Given the description of an element on the screen output the (x, y) to click on. 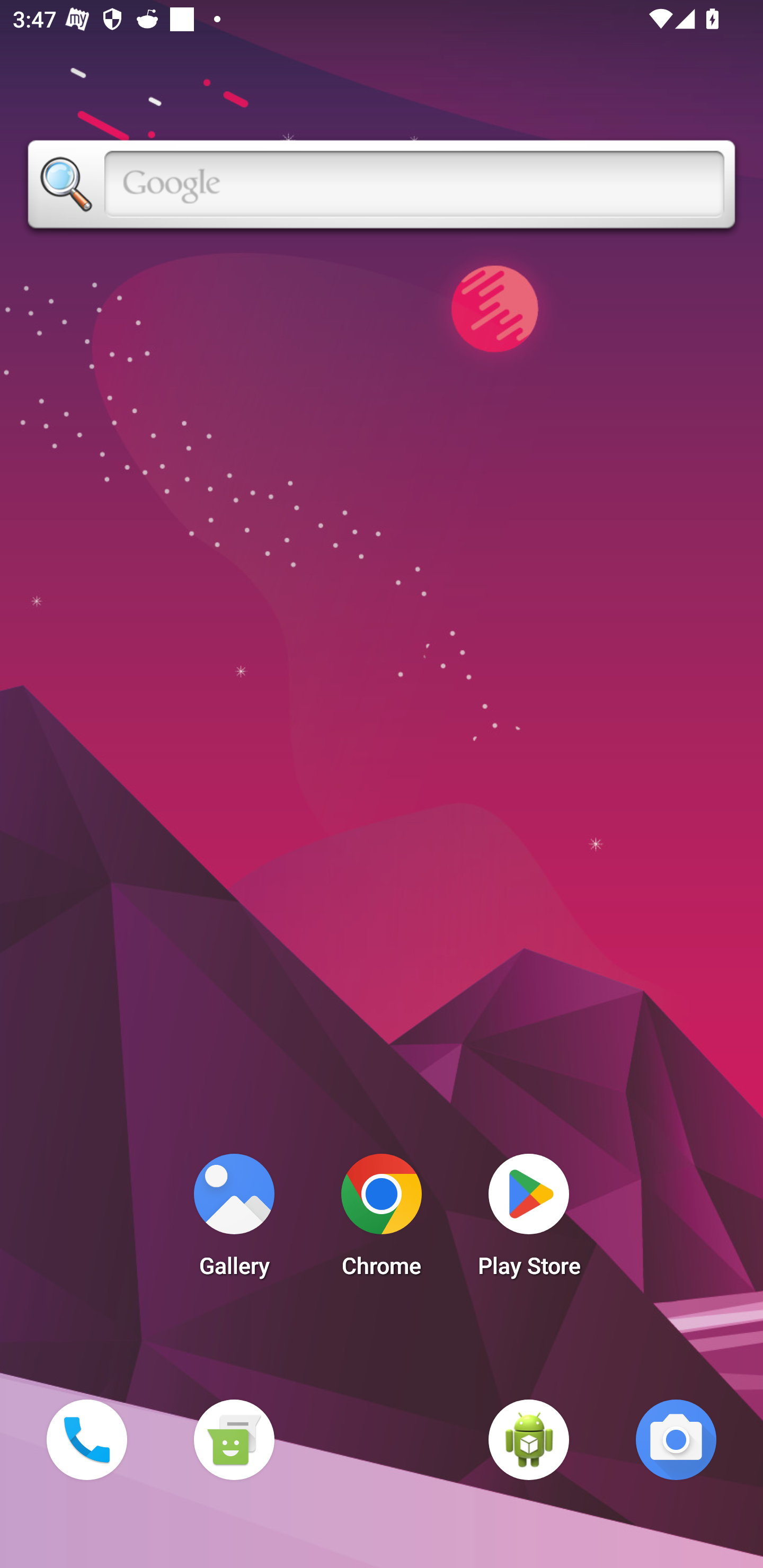
Gallery (233, 1220)
Chrome (381, 1220)
Play Store (528, 1220)
Phone (86, 1439)
Messaging (233, 1439)
WebView Browser Tester (528, 1439)
Camera (676, 1439)
